Given the description of an element on the screen output the (x, y) to click on. 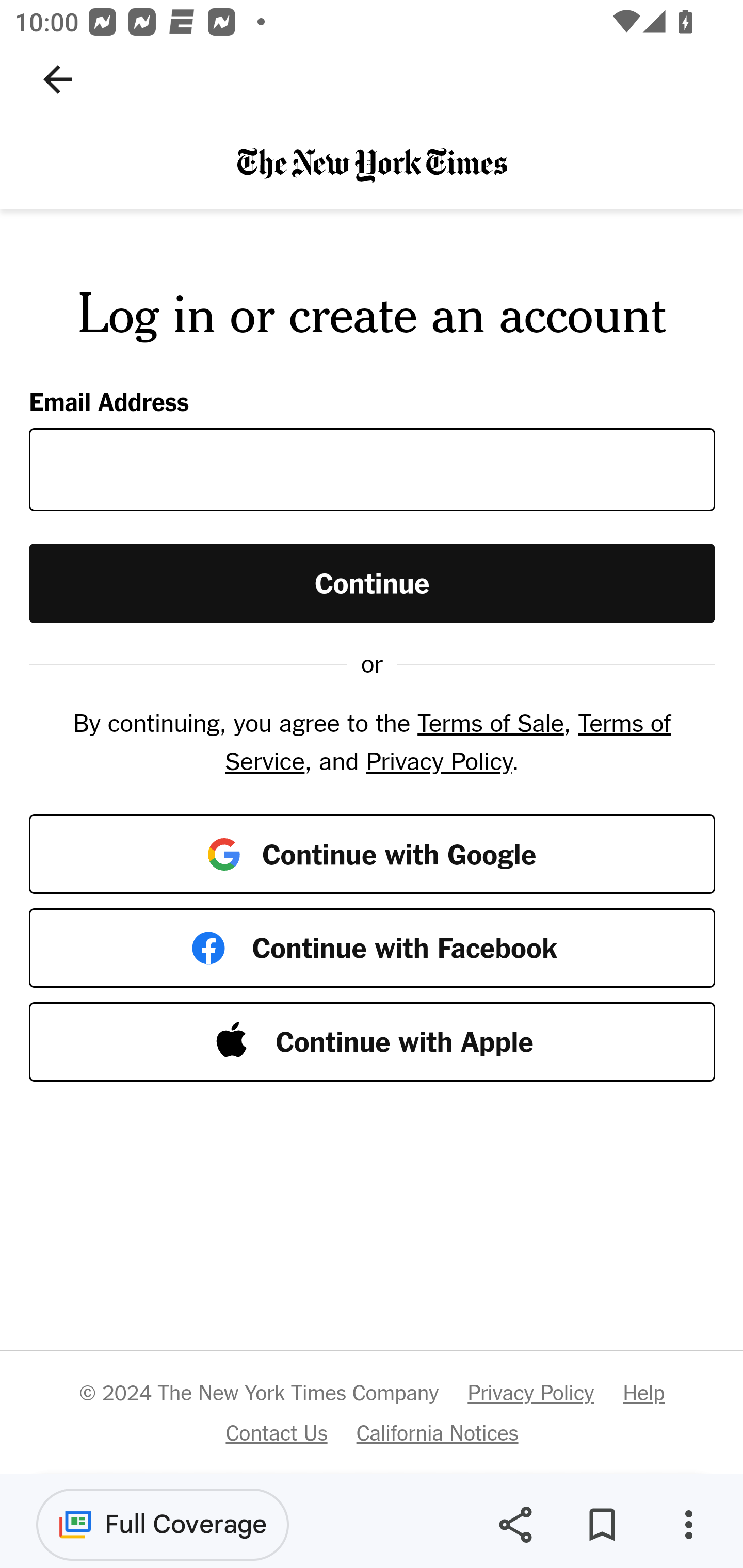
Navigate up (57, 79)
The New York Times (371, 164)
Continue (372, 582)
Terms of Service (447, 741)
Terms of Sale (490, 722)
Privacy Policy (438, 760)
Continue with Google (372, 853)
Continue with Facebook (372, 947)
Continue with Apple (372, 1041)
Privacy Policy (530, 1392)
Help (643, 1392)
Contact Us (275, 1432)
California Notices (437, 1432)
Share (514, 1524)
Save for later (601, 1524)
More options (688, 1524)
Full Coverage (162, 1524)
